Given the description of an element on the screen output the (x, y) to click on. 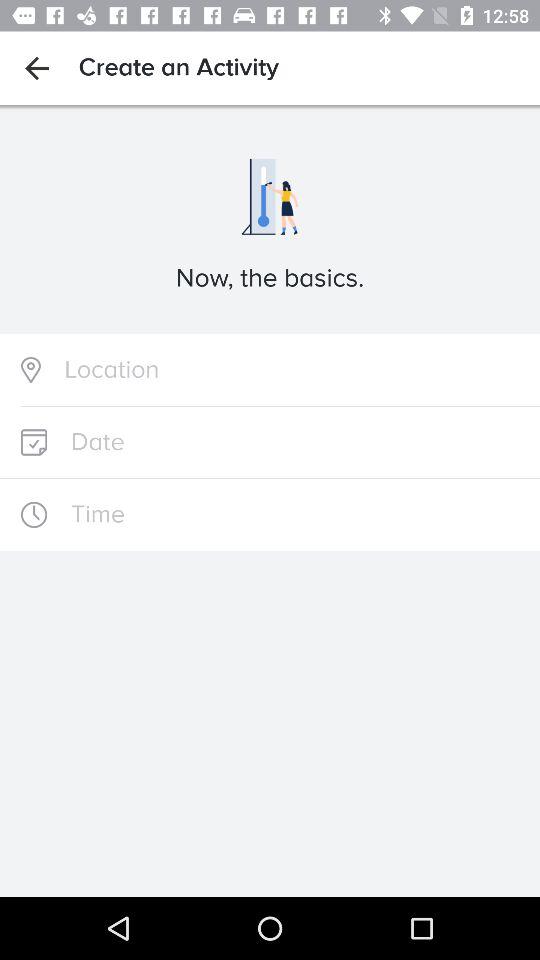
open item to the left of the create an activity app (36, 68)
